Given the description of an element on the screen output the (x, y) to click on. 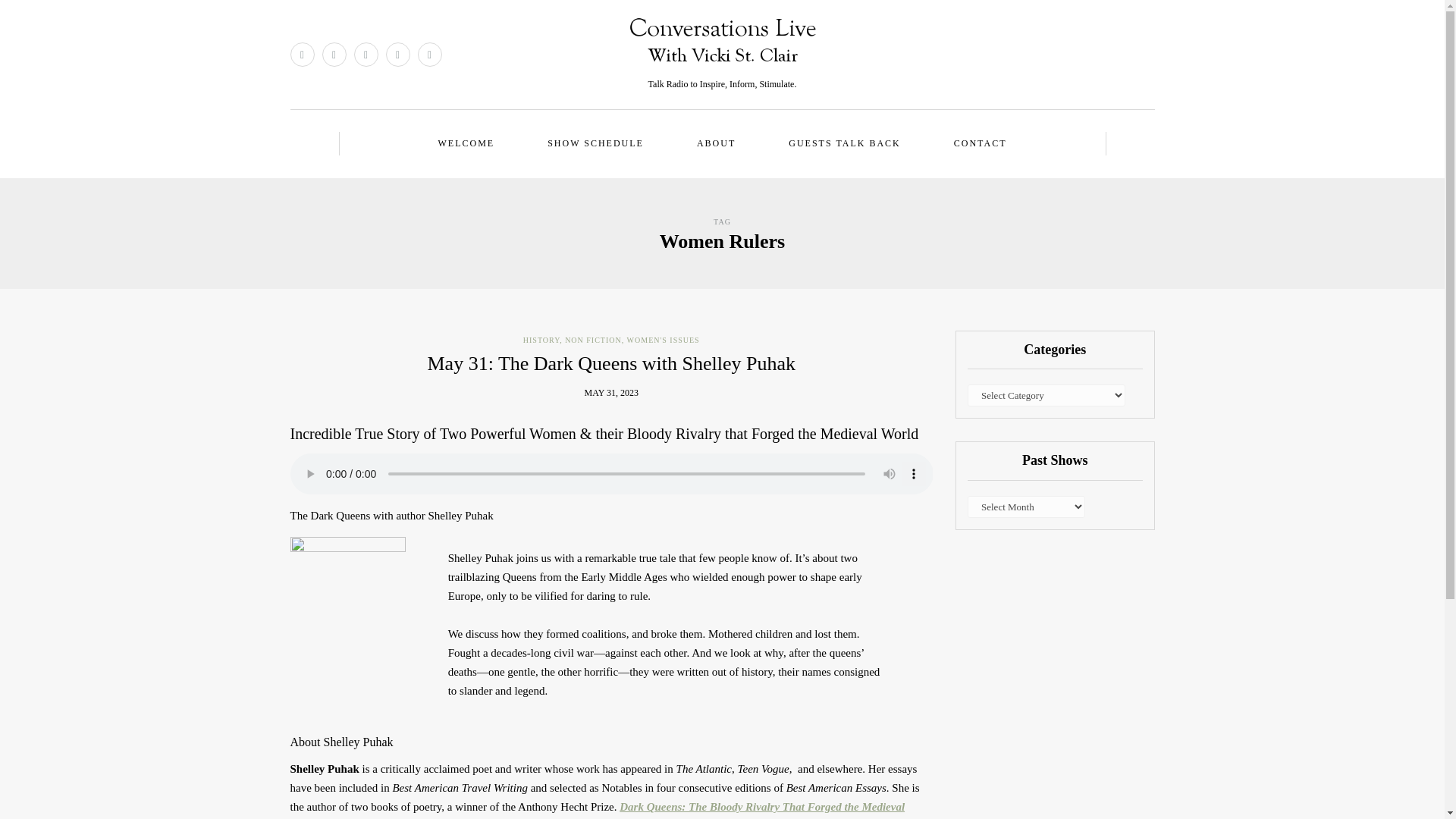
May 31: The Dark Queens with Shelley Puhak (612, 363)
HISTORY (540, 339)
GUESTS TALK BACK (844, 143)
ABOUT (716, 143)
SHOW SCHEDULE (595, 143)
CONTACT (980, 143)
WELCOME (465, 143)
NON FICTION (592, 339)
WOMEN'S ISSUES (663, 339)
